Given the description of an element on the screen output the (x, y) to click on. 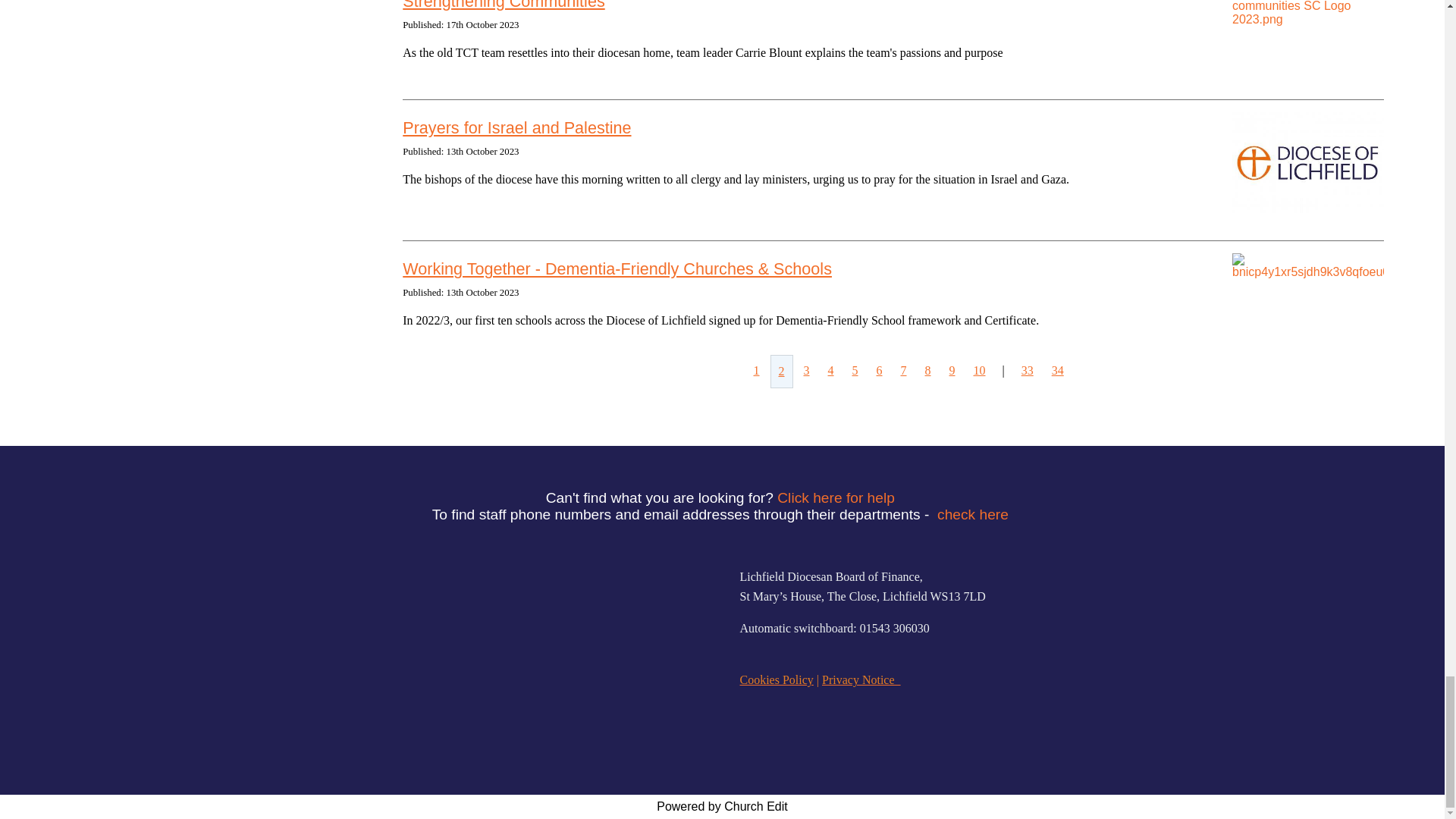
Logo (497, 627)
